Given the description of an element on the screen output the (x, y) to click on. 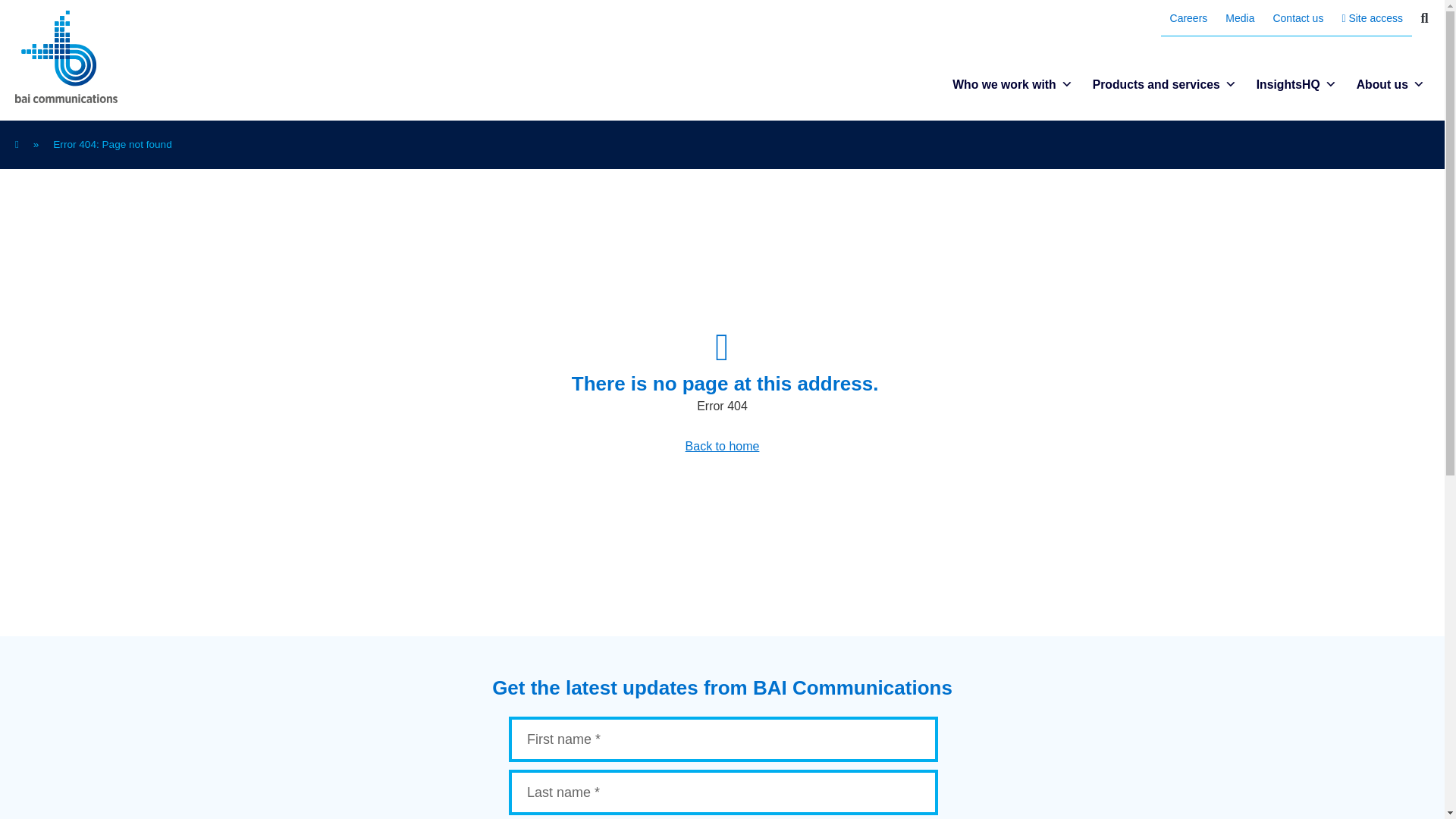
Careers (1188, 18)
Media (1239, 18)
 Site access (1372, 18)
Contact us (1297, 18)
Signup to BAI Communications newsletter (721, 767)
